Given the description of an element on the screen output the (x, y) to click on. 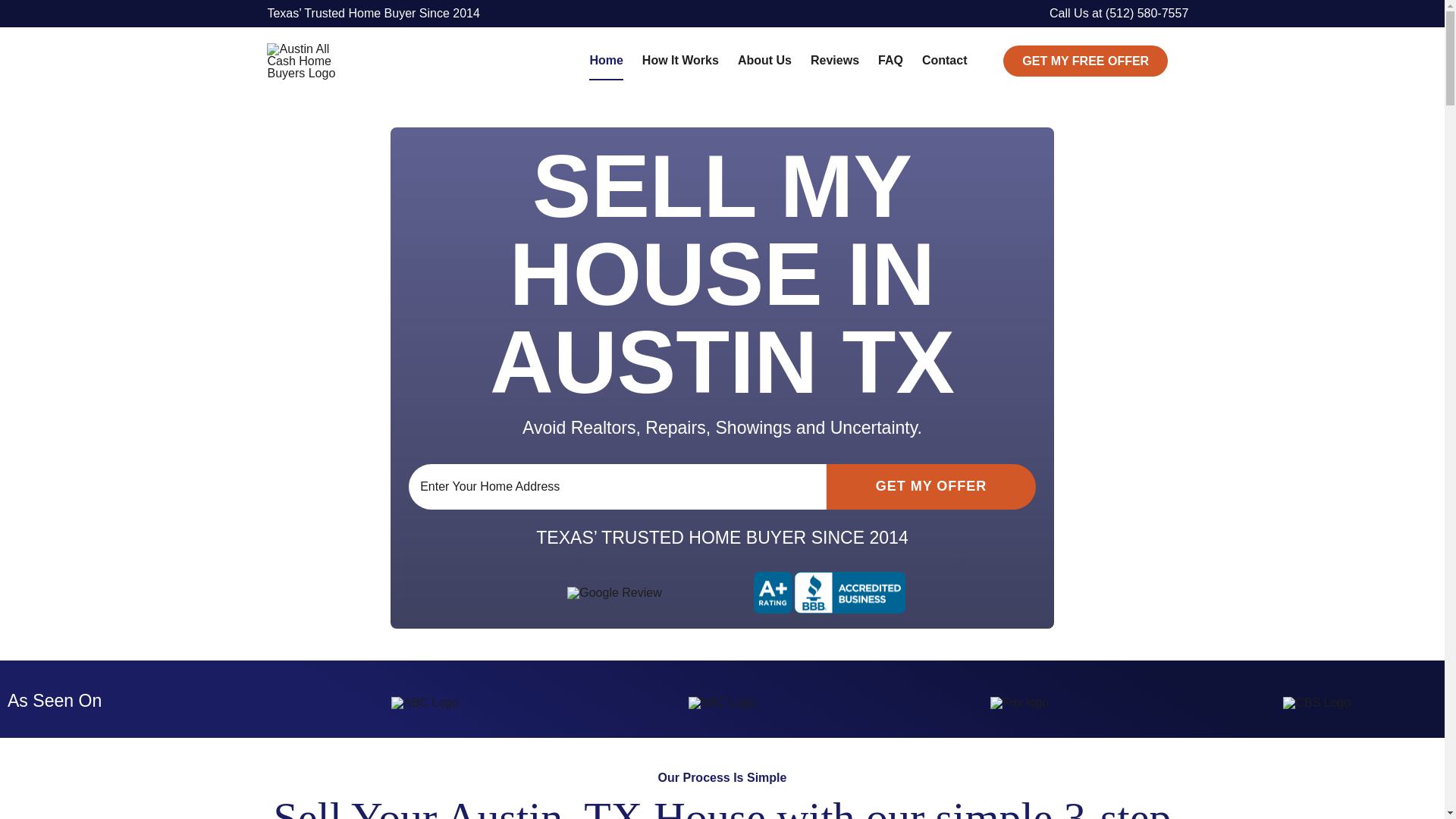
Get My Offer (931, 486)
companies-that-buy-houses-near-me-abc (424, 702)
Get My Offer (931, 486)
Reviews (834, 61)
companies-that-buy-houses-near-me-nbc (722, 702)
About Us (765, 61)
GET MY FREE OFFER (1085, 60)
Contact (944, 61)
we-buy-houses-fast-fox (1019, 702)
google-review-cash-home-buyer-5 (614, 592)
